Given the description of an element on the screen output the (x, y) to click on. 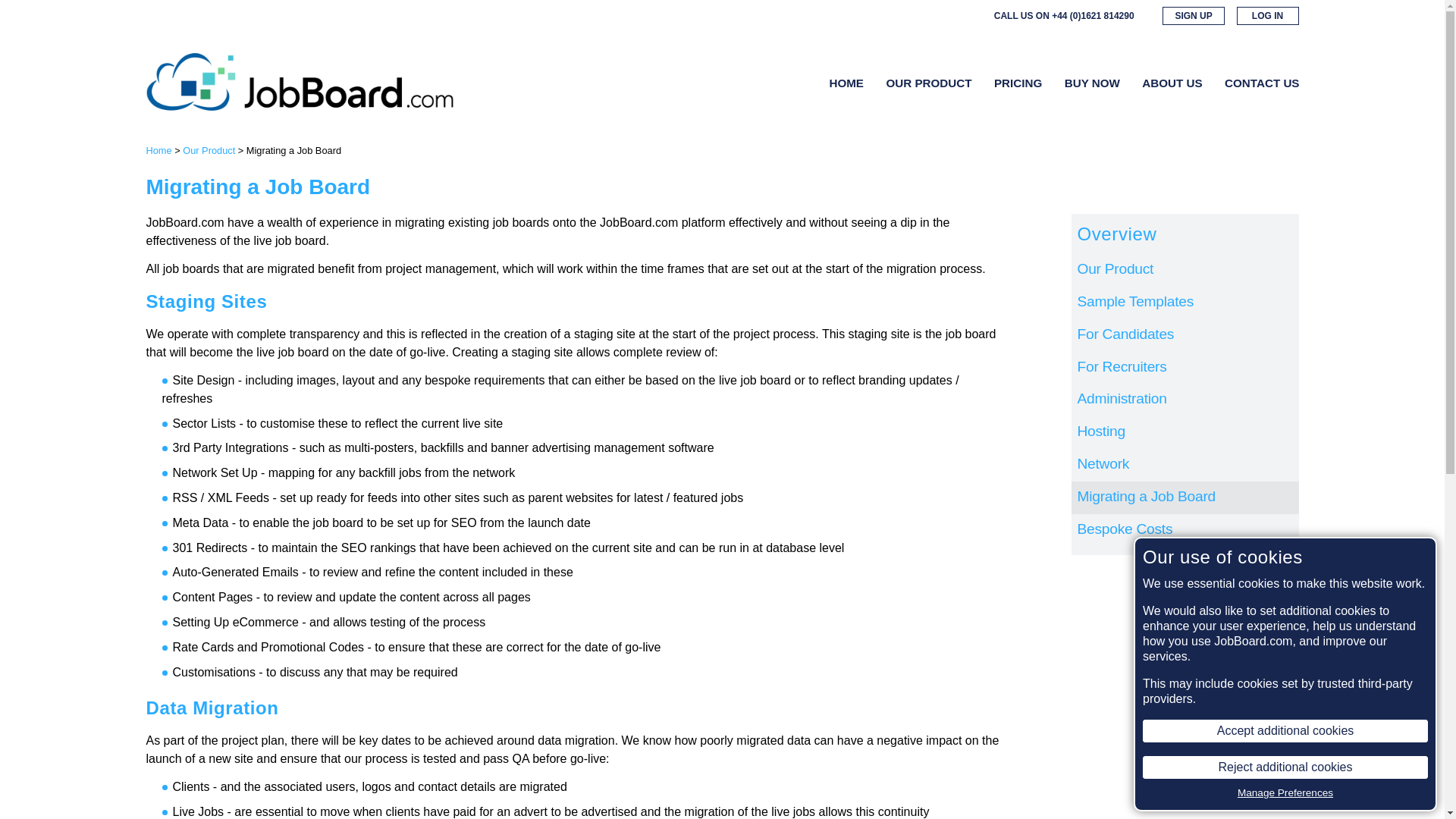
Network (1184, 464)
Overview (1184, 233)
Reject additional cookies (1285, 766)
Follow us on X (937, 15)
FOLLOW US ON X (937, 15)
BUY NOW (1091, 83)
Follow us on LinkedIn (958, 15)
For Recruiters (1184, 368)
Hosting (1184, 432)
Bespoke Costs (1184, 530)
OUR PRODUCT (928, 83)
LOG IN (1267, 15)
For Candidates (1184, 335)
Administration (1184, 400)
SIGN UP (1192, 15)
